Given the description of an element on the screen output the (x, y) to click on. 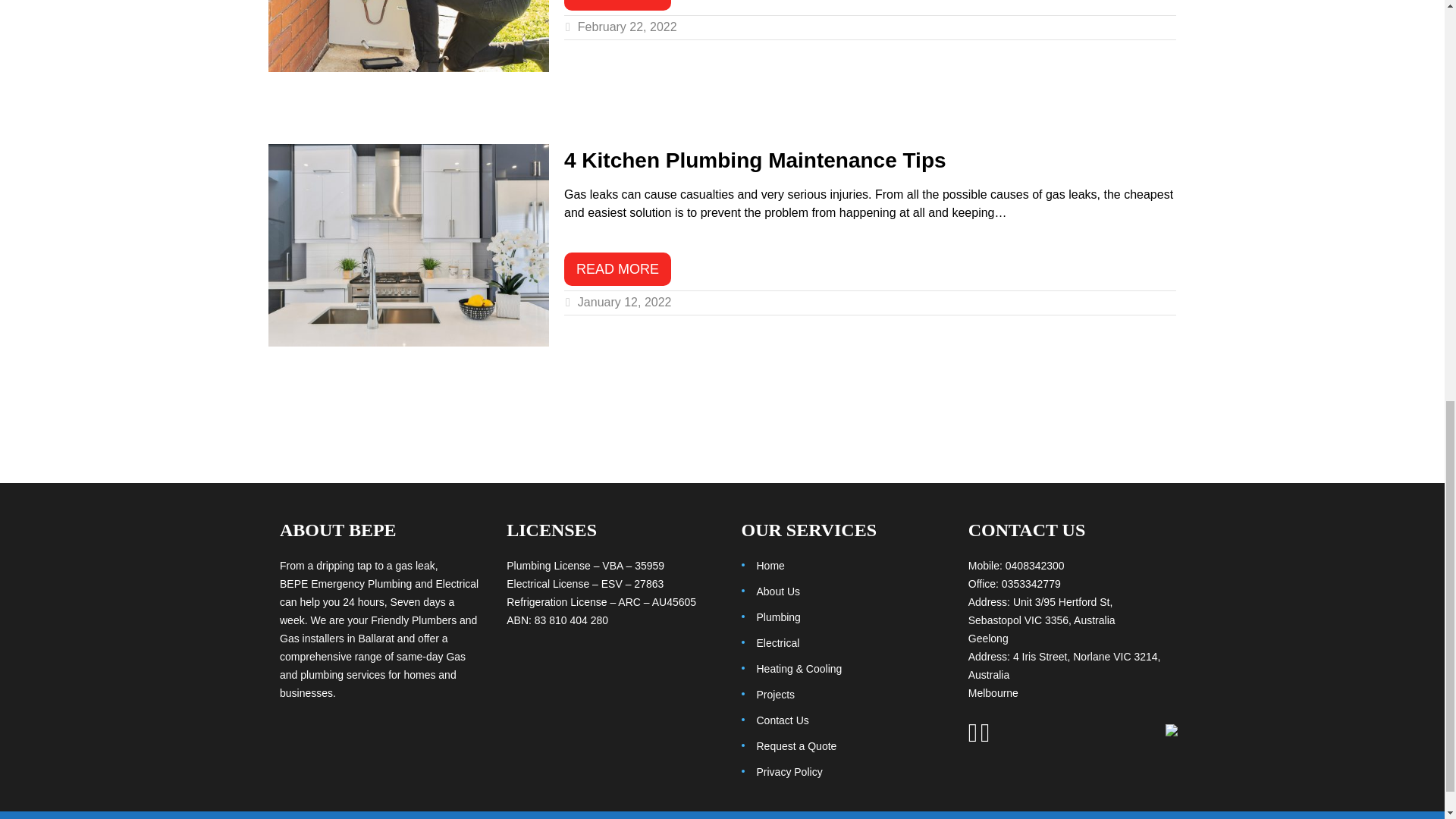
Permalink to 4 Kitchen Plumbing Maintenance Tips (407, 245)
Permalink to Tips on Finding the Right Plumber (617, 5)
Permalink to 4 Kitchen Plumbing Maintenance Tips (617, 268)
Permalink to Tips on Finding the Right Plumber (407, 36)
Permalink to 4 Kitchen Plumbing Maintenance Tips (755, 159)
